Given the description of an element on the screen output the (x, y) to click on. 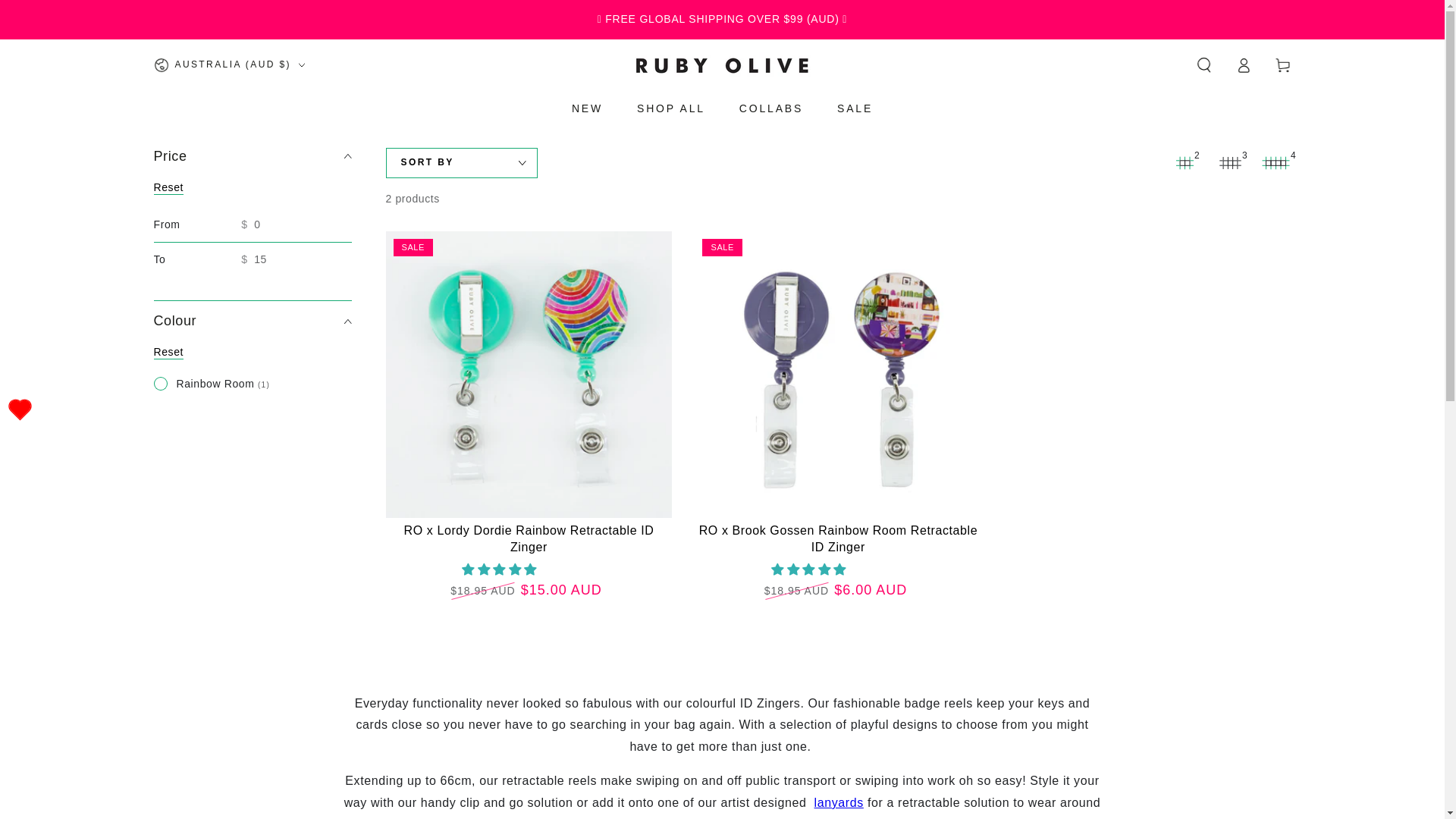
Rainbow Room (210, 383)
Wishlist (19, 409)
SKIP TO CONTENT (67, 14)
